Given the description of an element on the screen output the (x, y) to click on. 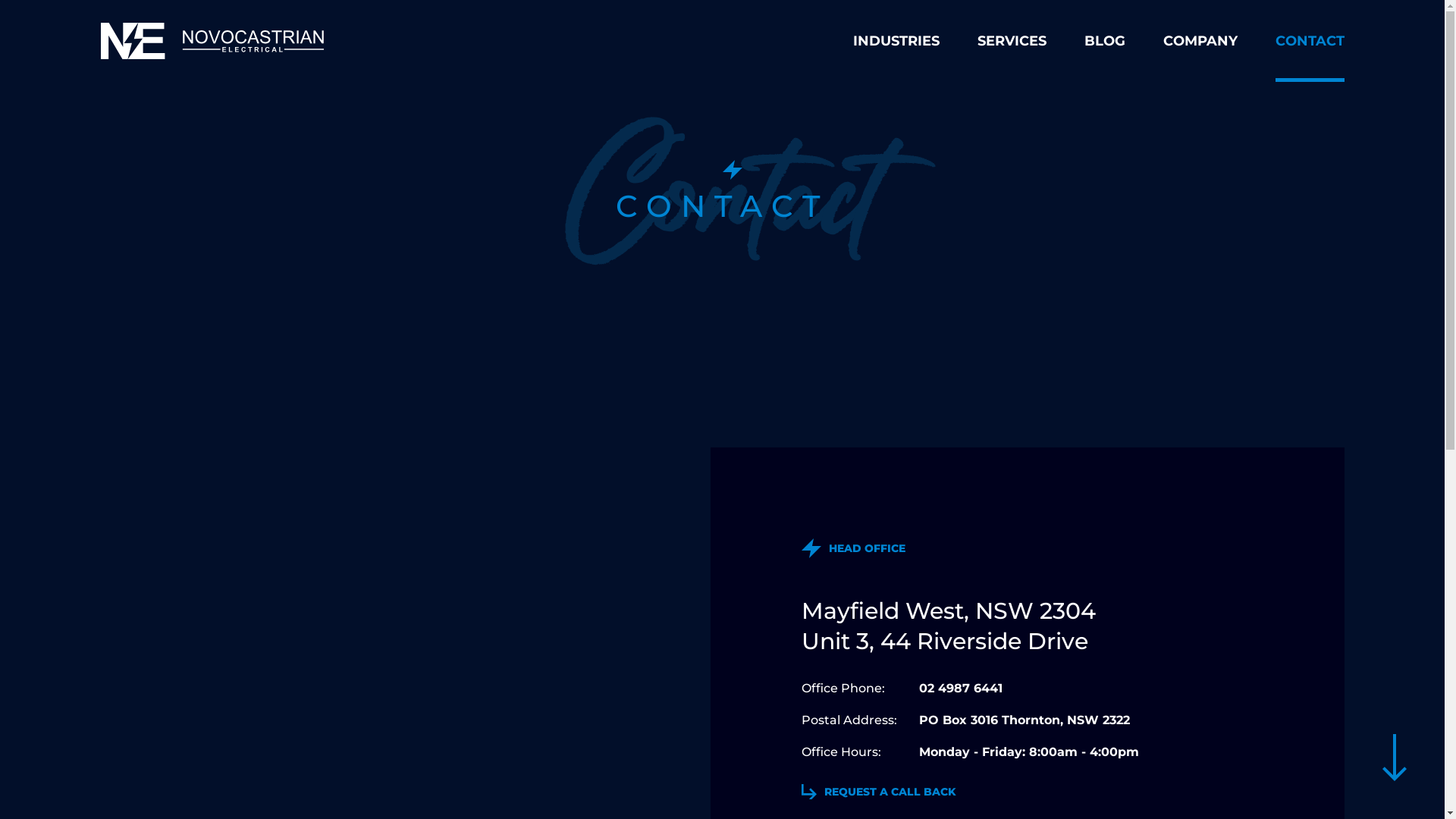
COMPANY Element type: text (1200, 40)
CONTACT Element type: text (1309, 40)
INDUSTRIES Element type: text (895, 40)
02 4987 6441 Element type: text (960, 687)
SERVICES Element type: text (1010, 40)
BLOG Element type: text (1104, 40)
